Given the description of an element on the screen output the (x, y) to click on. 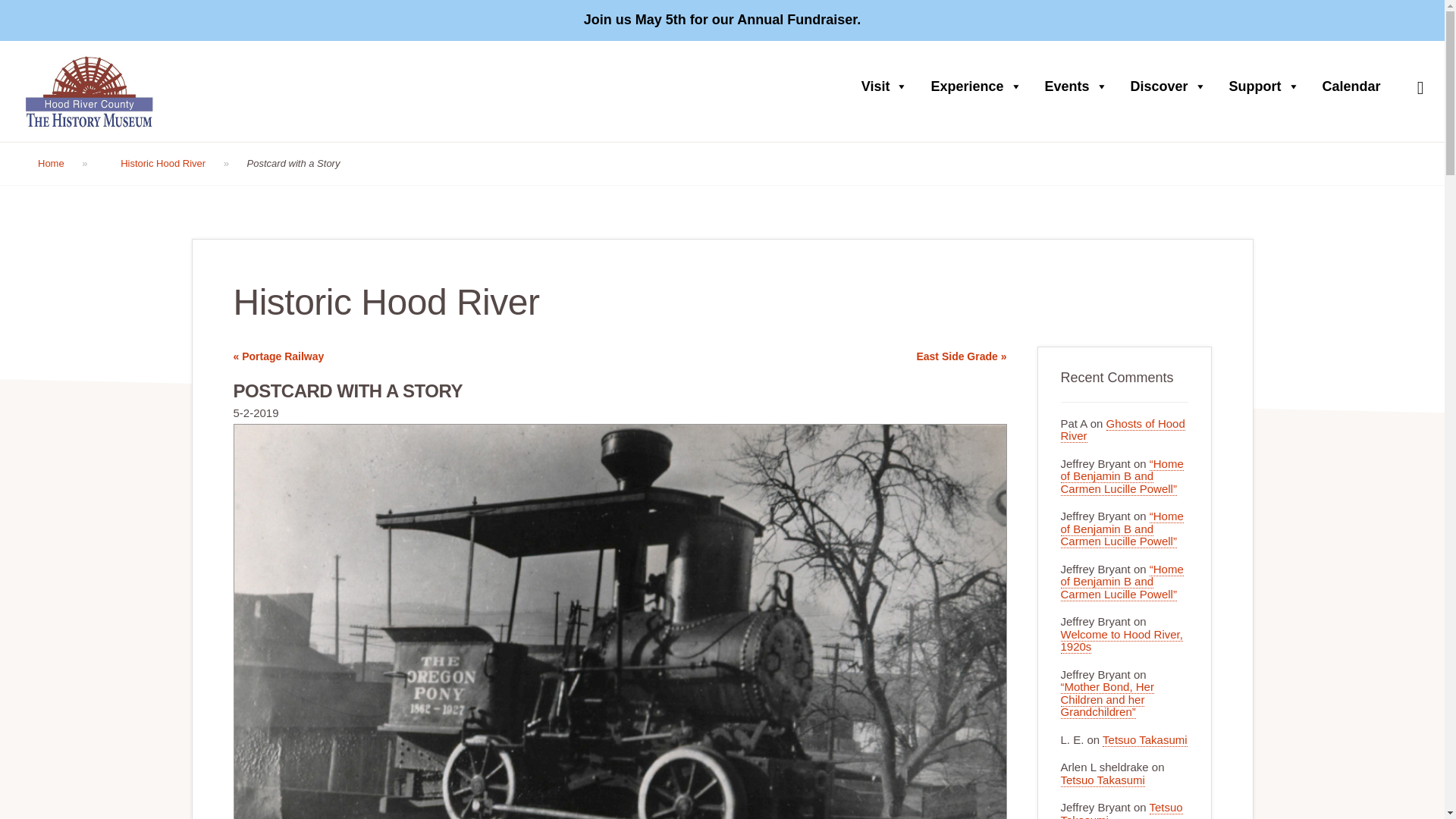
Support (1267, 86)
Historic Hood River (174, 163)
Visit (888, 86)
Donate (1282, 20)
Home (63, 163)
Experience (979, 86)
Subscribe (1043, 737)
Discover (1171, 86)
Calendar (1355, 86)
Events (1079, 86)
Become A Member (1366, 20)
